Given the description of an element on the screen output the (x, y) to click on. 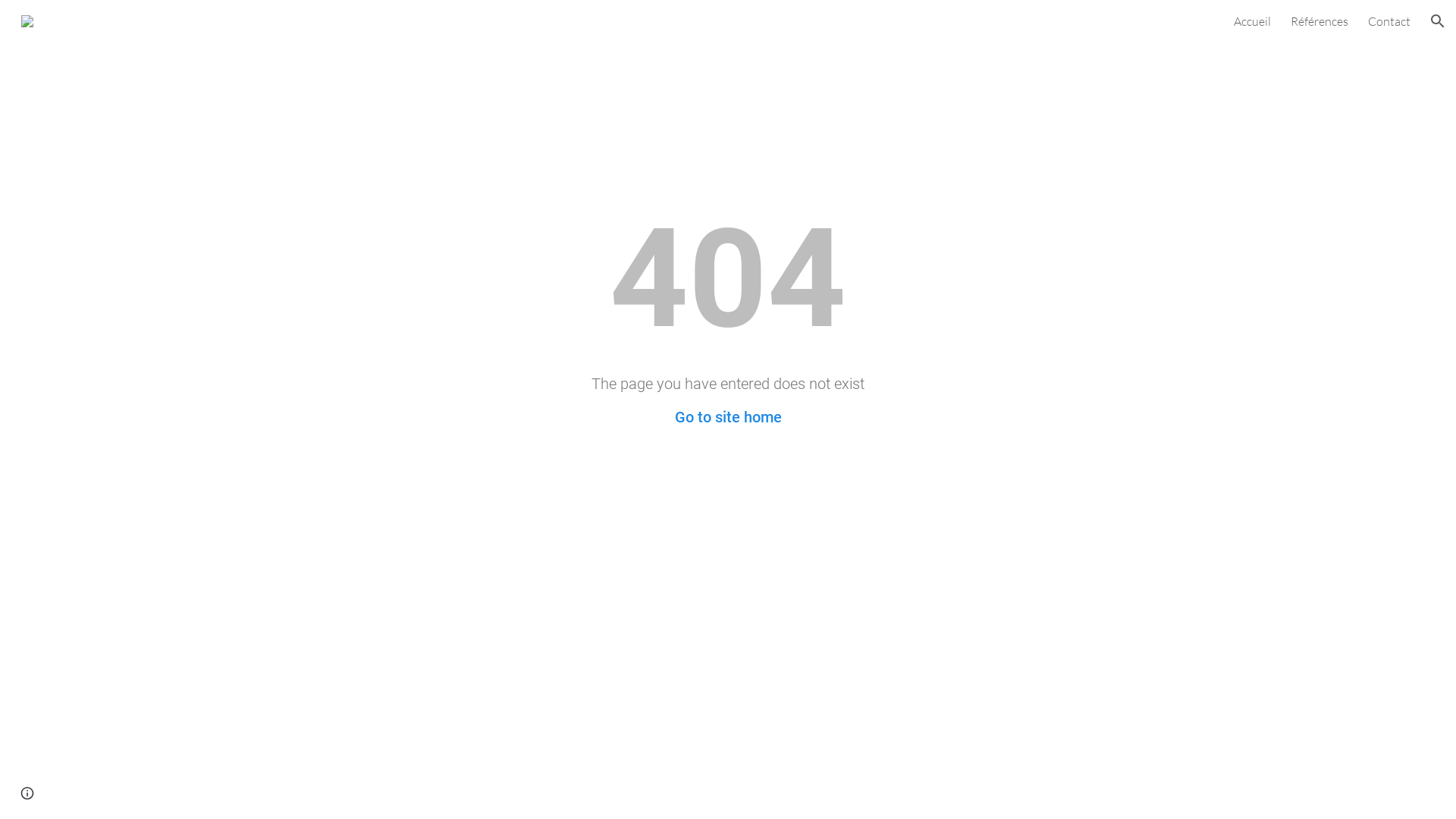
Contact Element type: text (1389, 20)
Accueil Element type: text (1251, 20)
Go to site home Element type: text (727, 416)
